Given the description of an element on the screen output the (x, y) to click on. 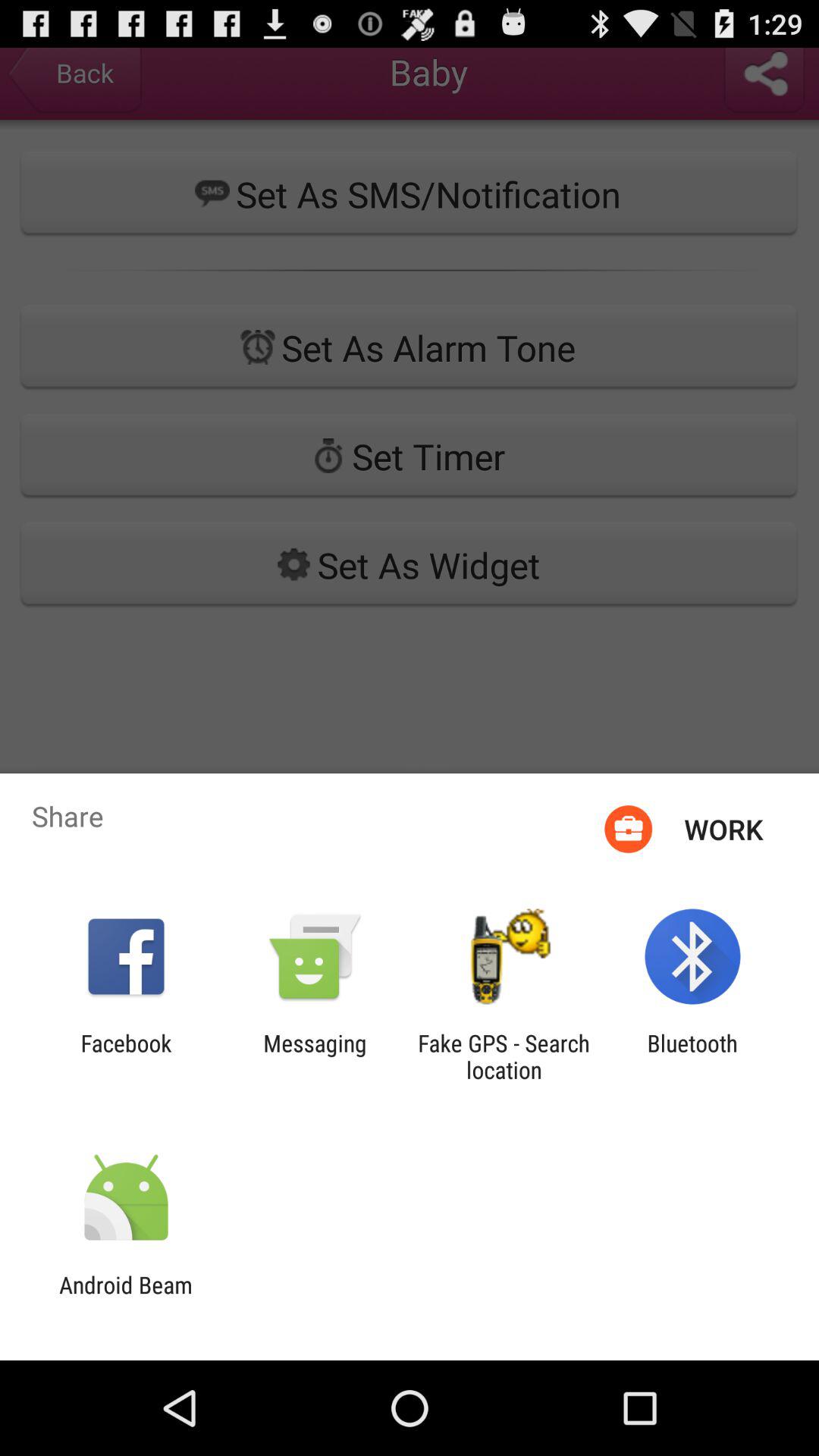
tap android beam app (125, 1298)
